Given the description of an element on the screen output the (x, y) to click on. 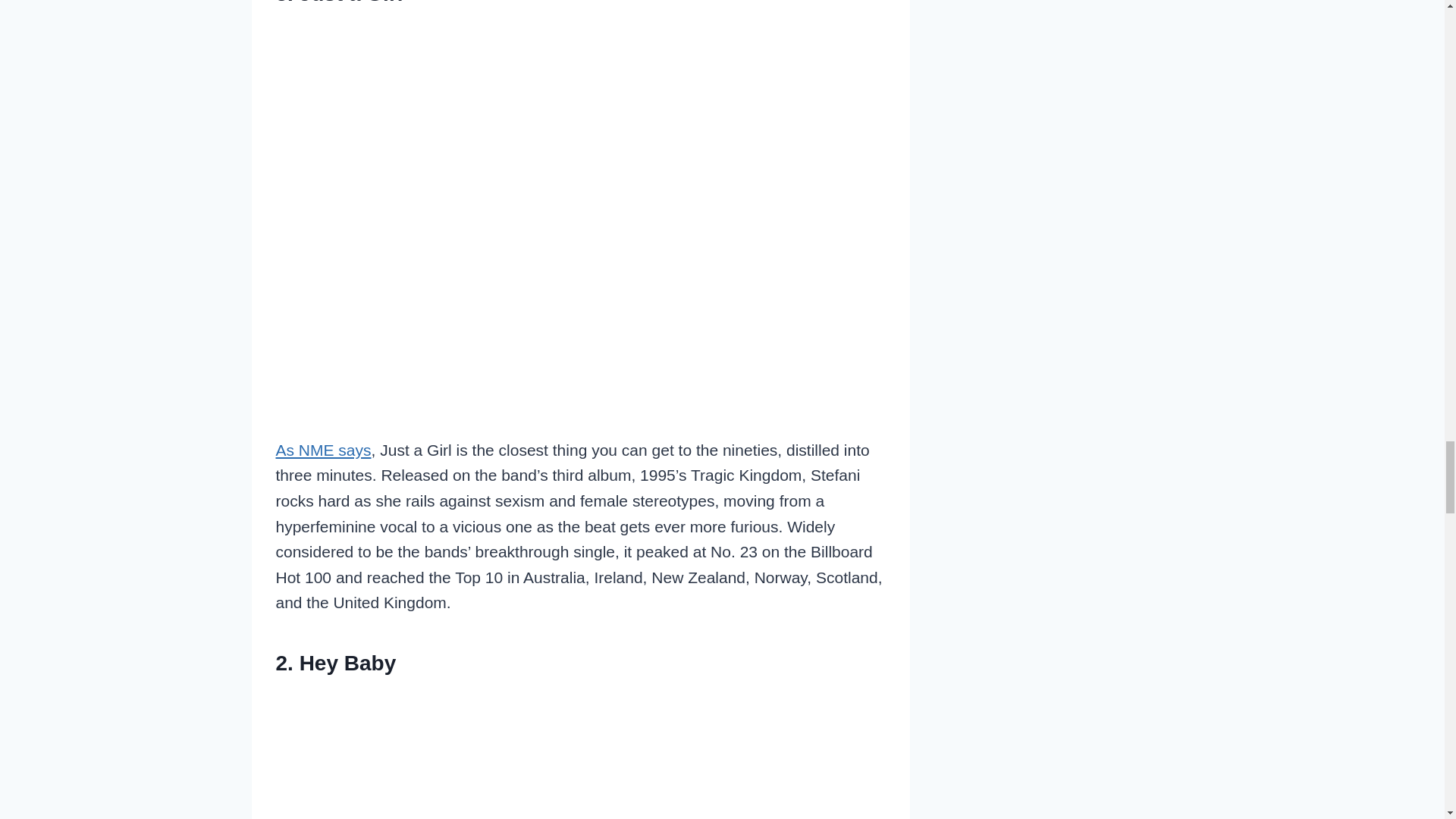
As NME says (323, 449)
No Doubt - Hey Baby (581, 754)
